Given the description of an element on the screen output the (x, y) to click on. 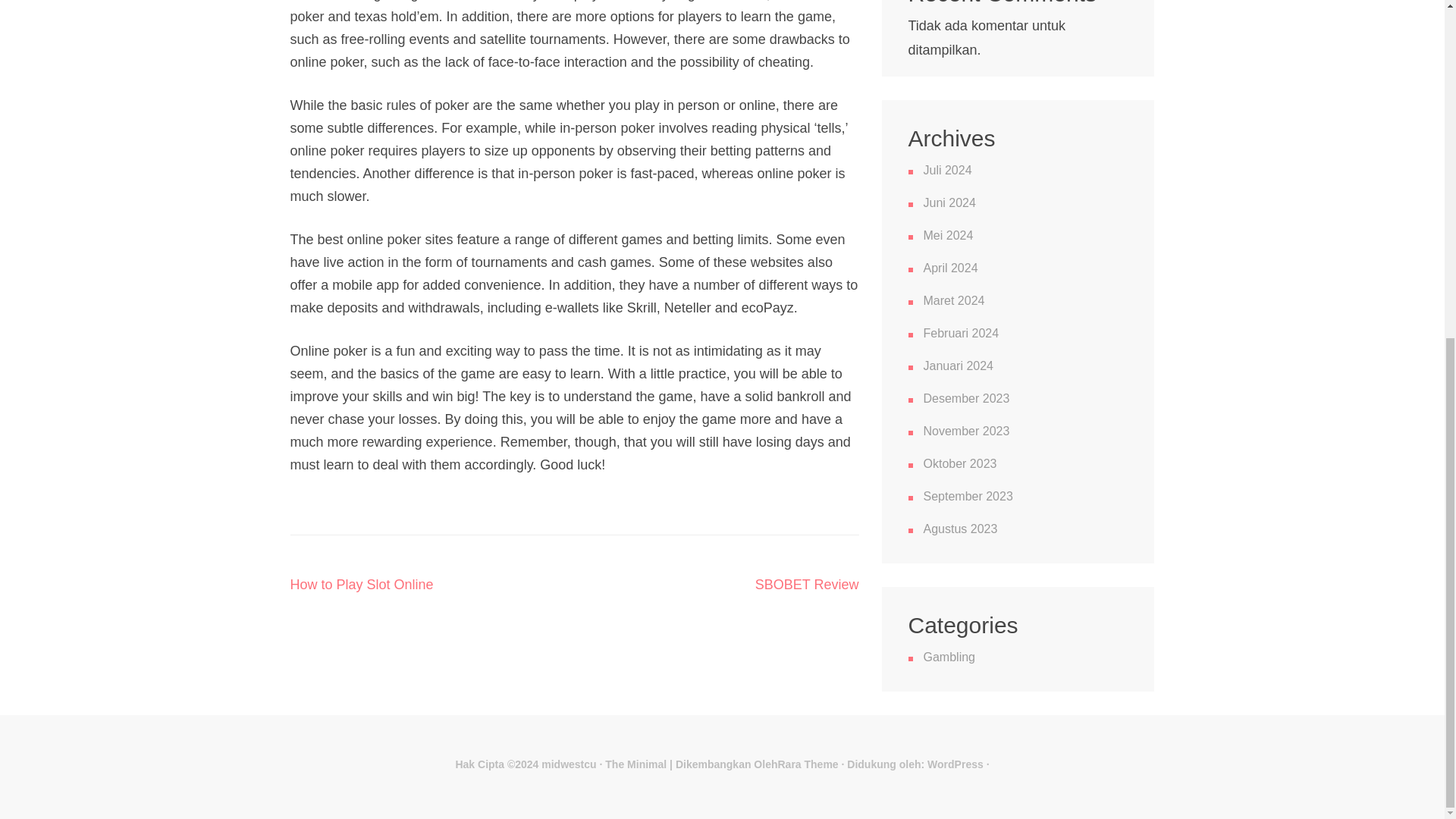
How to Play Slot Online (360, 584)
SBOBET Review (807, 584)
